Given the description of an element on the screen output the (x, y) to click on. 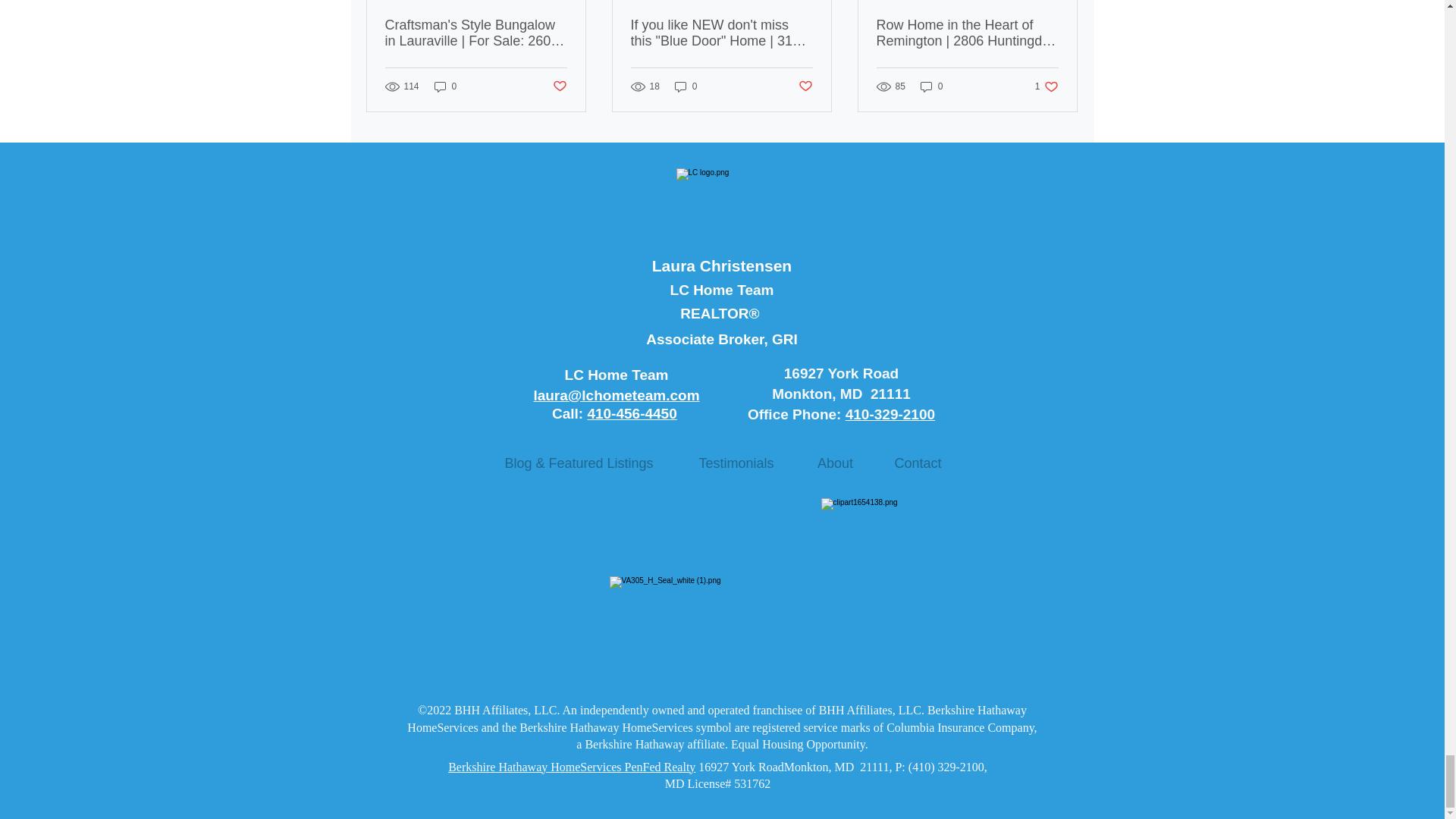
0 (445, 86)
Post not marked as liked (558, 86)
0 (685, 86)
Post not marked as liked (804, 86)
